Given the description of an element on the screen output the (x, y) to click on. 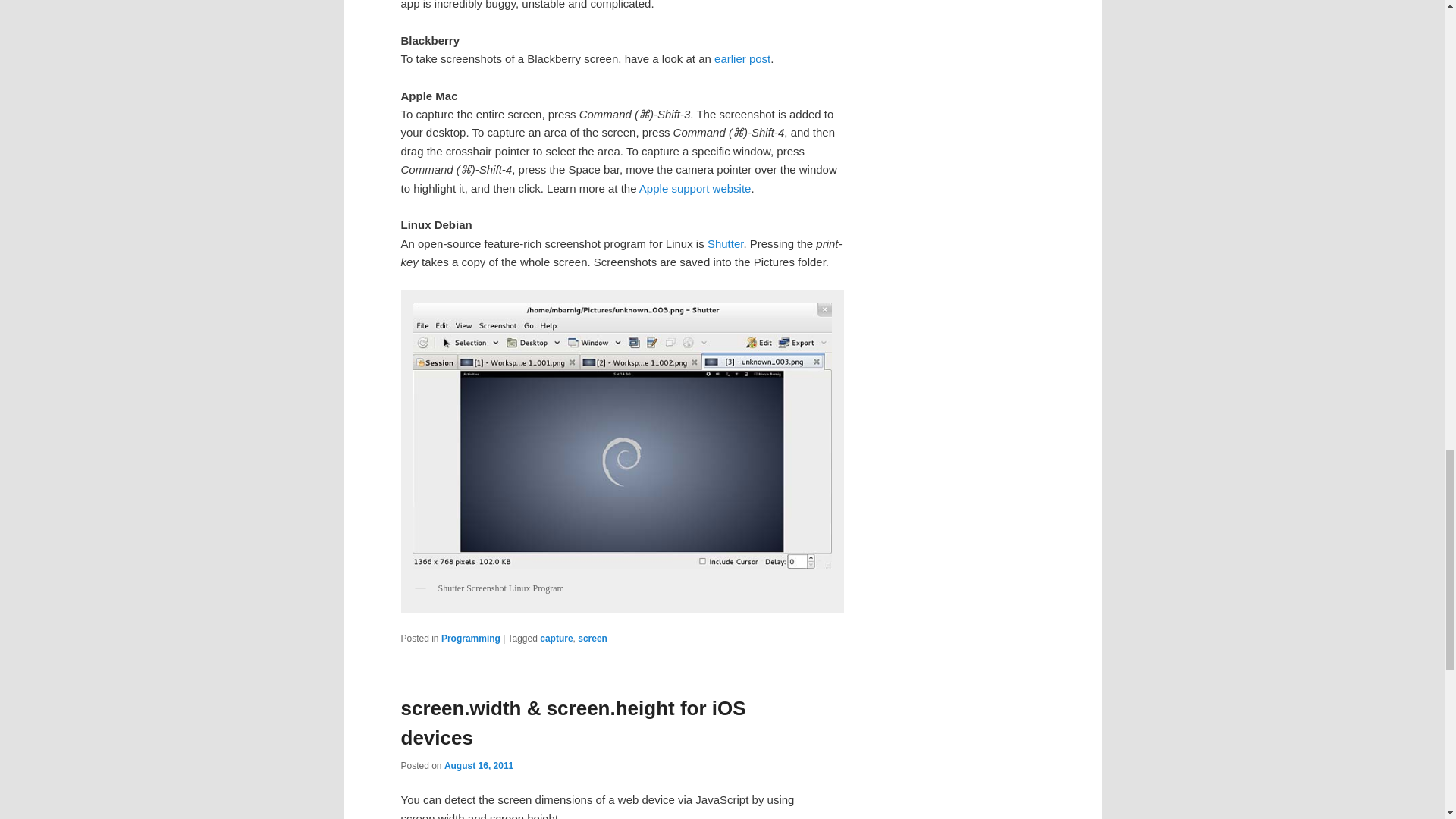
Programming (470, 638)
Blackberry screenshot (742, 58)
August 16, 2011 (478, 765)
Apple support website (695, 187)
capture (556, 638)
23:38 (478, 765)
Apple support (695, 187)
earlier post (742, 58)
Shutter (725, 243)
screen (592, 638)
Shutter (725, 243)
